Given the description of an element on the screen output the (x, y) to click on. 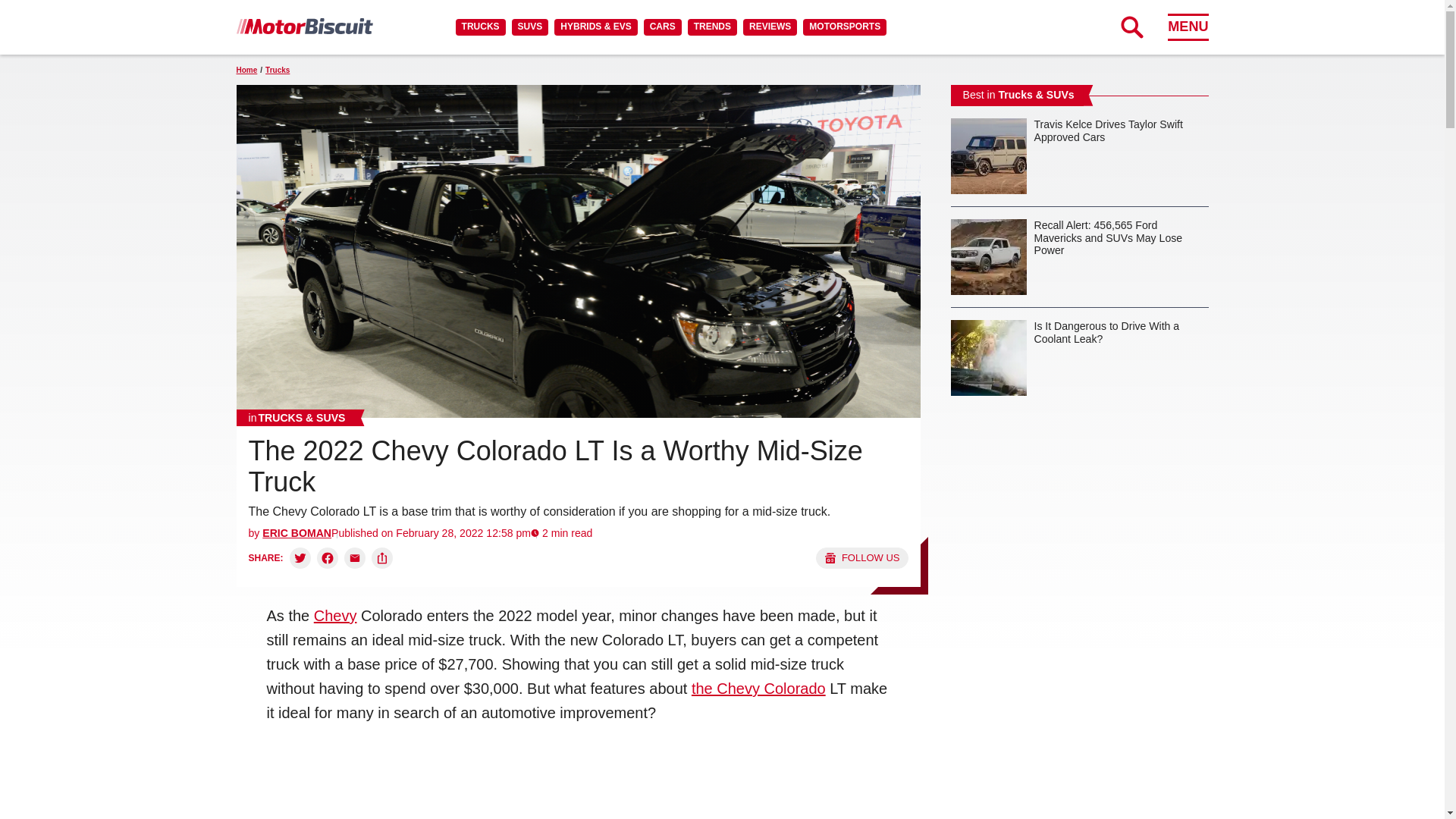
TRENDS (711, 26)
MotorBiscuit (303, 26)
MOTORSPORTS (844, 26)
SUVS (530, 26)
MENU (1187, 26)
REVIEWS (769, 26)
Copy link and share:  (382, 557)
Follow us on Google News (861, 557)
Expand Search (1131, 26)
